Given the description of an element on the screen output the (x, y) to click on. 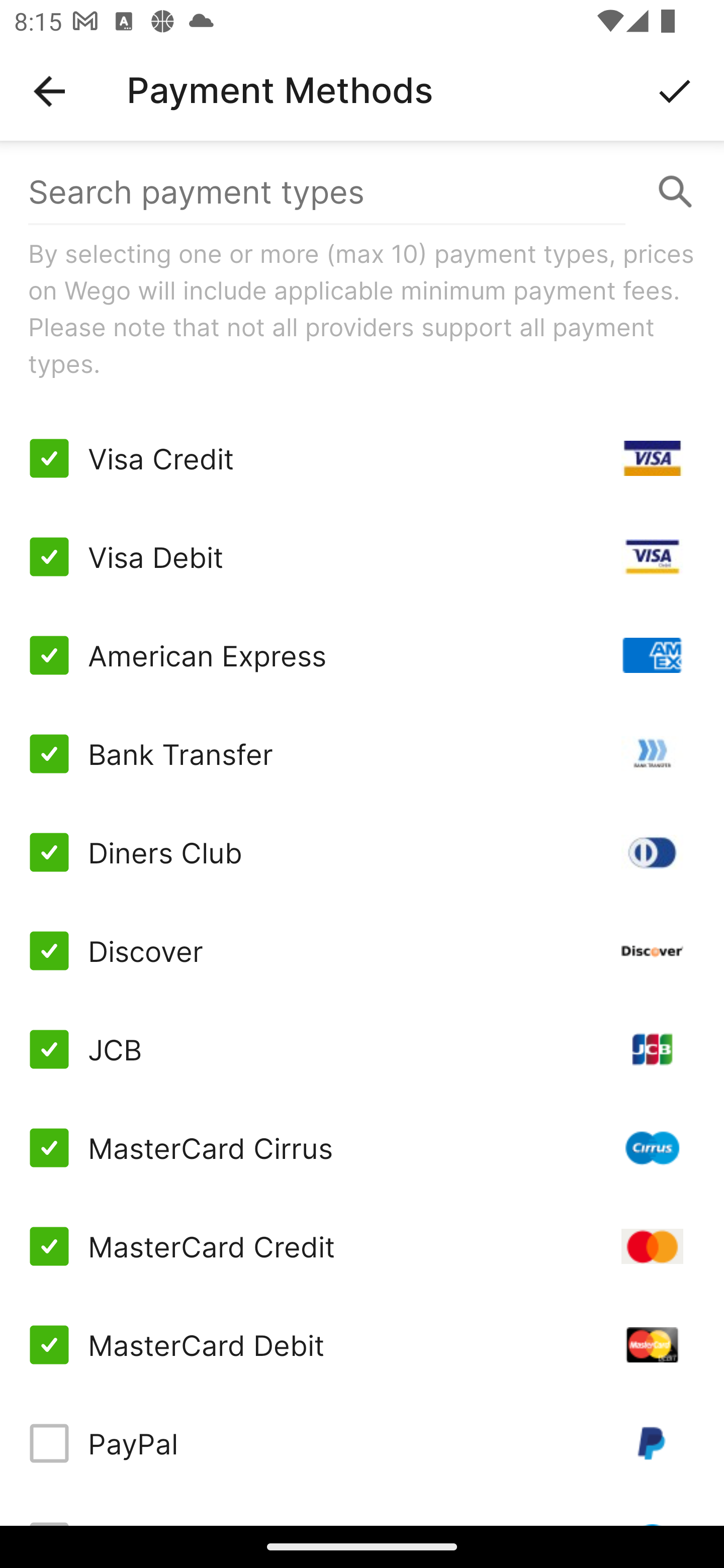
Search payment types  (361, 191)
Visa Credit (362, 458)
Visa Debit (362, 557)
American Express (362, 655)
Bank Transfer (362, 753)
Diners Club (362, 851)
Discover (362, 950)
JCB (362, 1049)
MasterCard Cirrus (362, 1147)
MasterCard Credit (362, 1245)
MasterCard Debit (362, 1344)
PayPal (362, 1442)
